Given the description of an element on the screen output the (x, y) to click on. 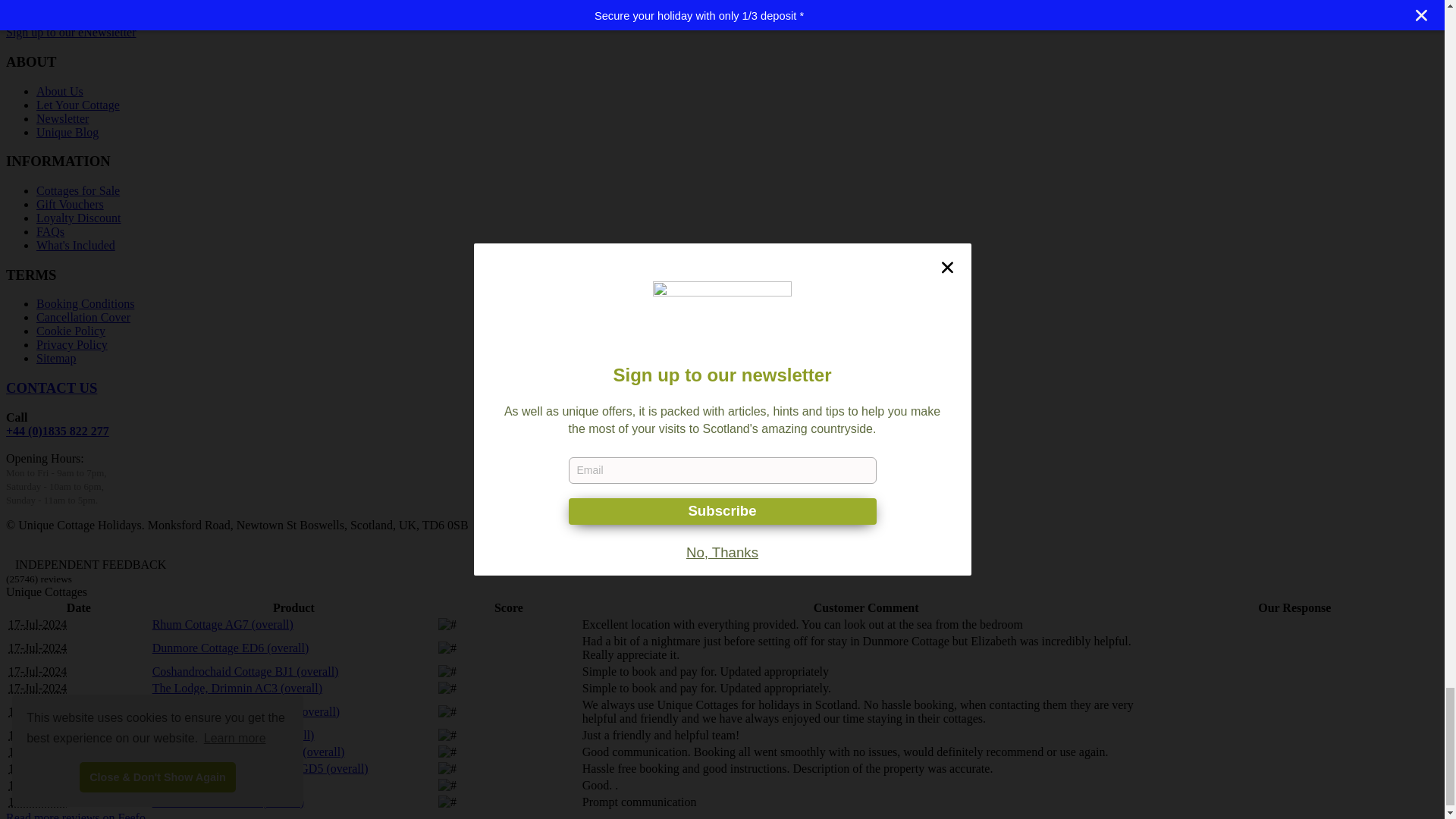
2024-07-17T14:30:24 (37, 671)
2024-07-17T14:24:53 (37, 687)
2024-07-17T14:44:29 (37, 647)
2024-07-14T22:26:26 (37, 801)
2024-07-15T20:08:53 (37, 751)
2024-07-17T06:28:03 (37, 711)
2024-07-17T15:20:57 (37, 624)
2024-07-15T13:20:01 (37, 784)
2024-07-16T15:04:24 (37, 735)
2024-07-15T19:36:41 (37, 768)
